Given the description of an element on the screen output the (x, y) to click on. 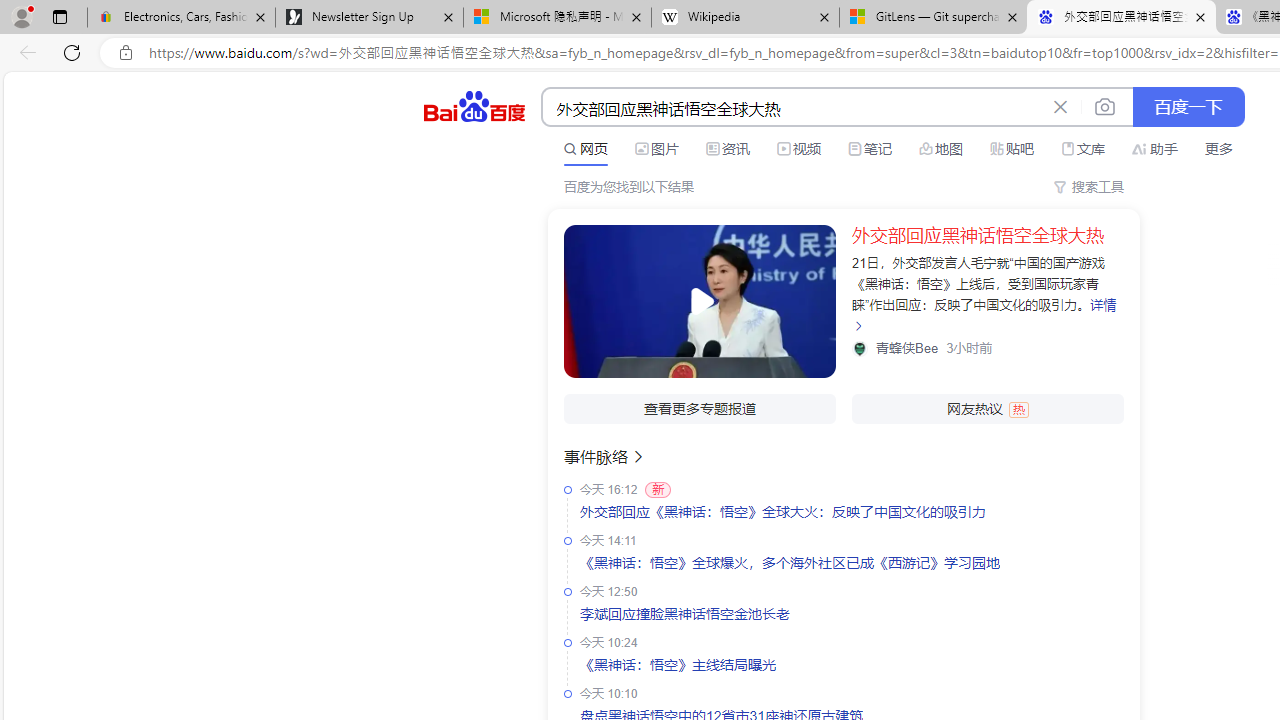
Wikipedia (744, 17)
AutomationID: kw (793, 107)
